Given the description of an element on the screen output the (x, y) to click on. 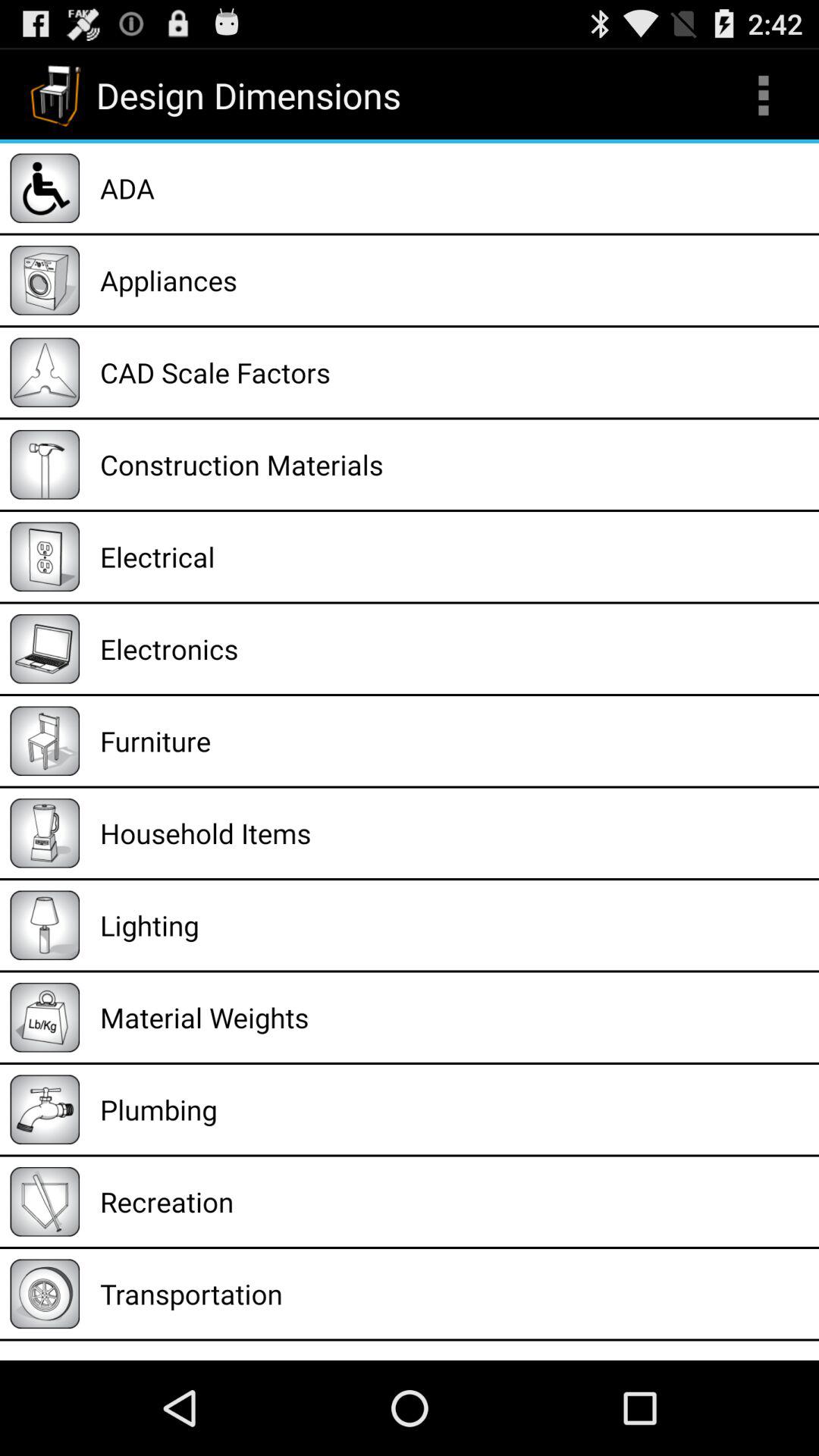
jump until the cad scale factors app (454, 372)
